Given the description of an element on the screen output the (x, y) to click on. 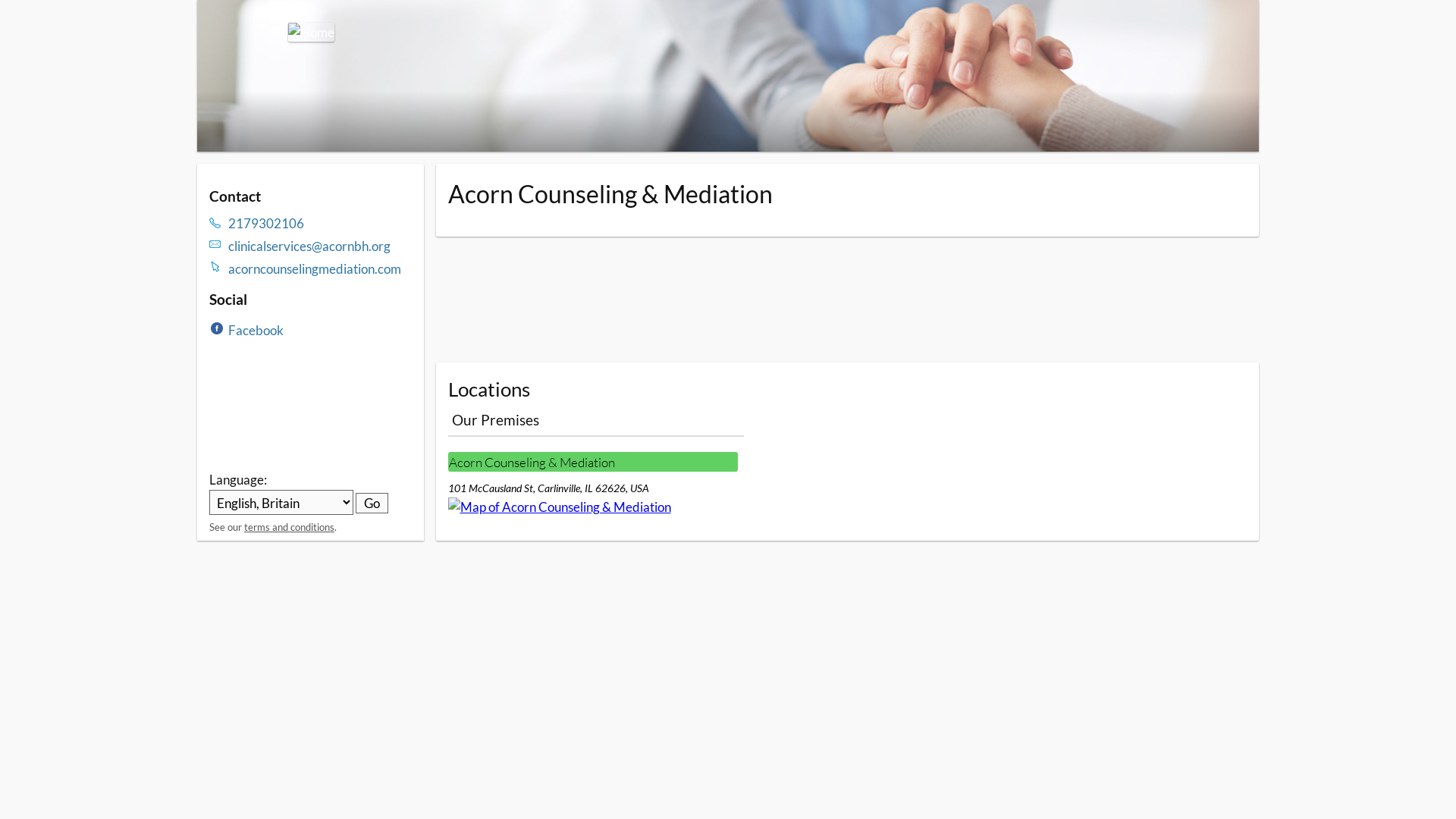
Acorn Counseling & Mediation Element type: text (592, 461)
terms and conditions Element type: text (289, 526)
acorncounselingmediation.com Element type: text (319, 268)
clinicalservices@acornbh.org Element type: text (319, 245)
Facebook Element type: text (255, 330)
Go Element type: text (371, 502)
Skip to booking section Element type: text (286, 23)
2179302106 Element type: text (319, 222)
Booking widget Element type: hover (846, 299)
